Given the description of an element on the screen output the (x, y) to click on. 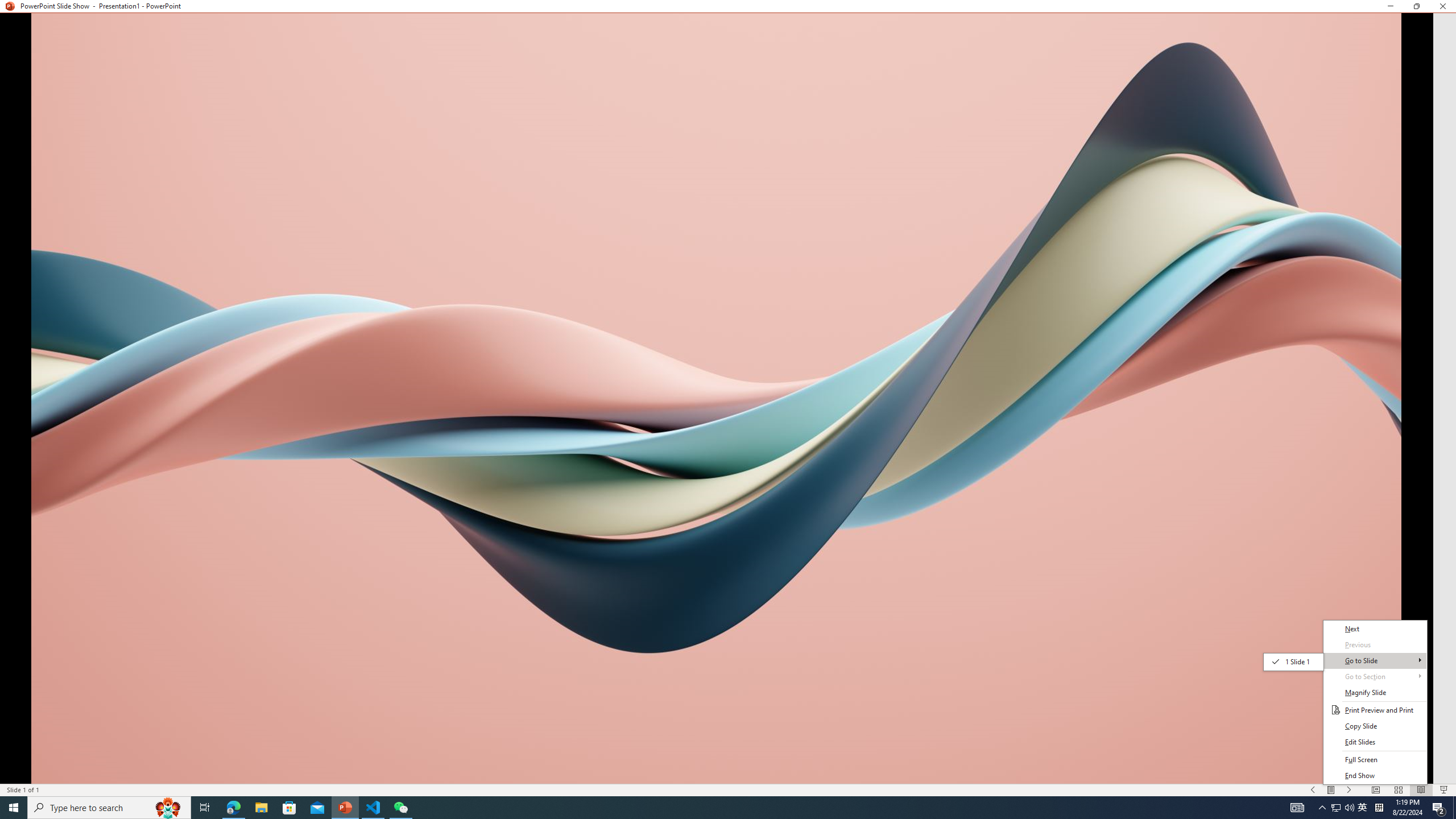
Show desktop (1454, 807)
Start (13, 807)
Type here to search (108, 807)
Task View (204, 807)
Search highlights icon opens search home window (167, 807)
Microsoft Store (289, 807)
Go to Slide (1293, 661)
Magnify Slide (1374, 692)
AutomationID: 4105 (1297, 807)
Go to Slide (1374, 660)
